Given the description of an element on the screen output the (x, y) to click on. 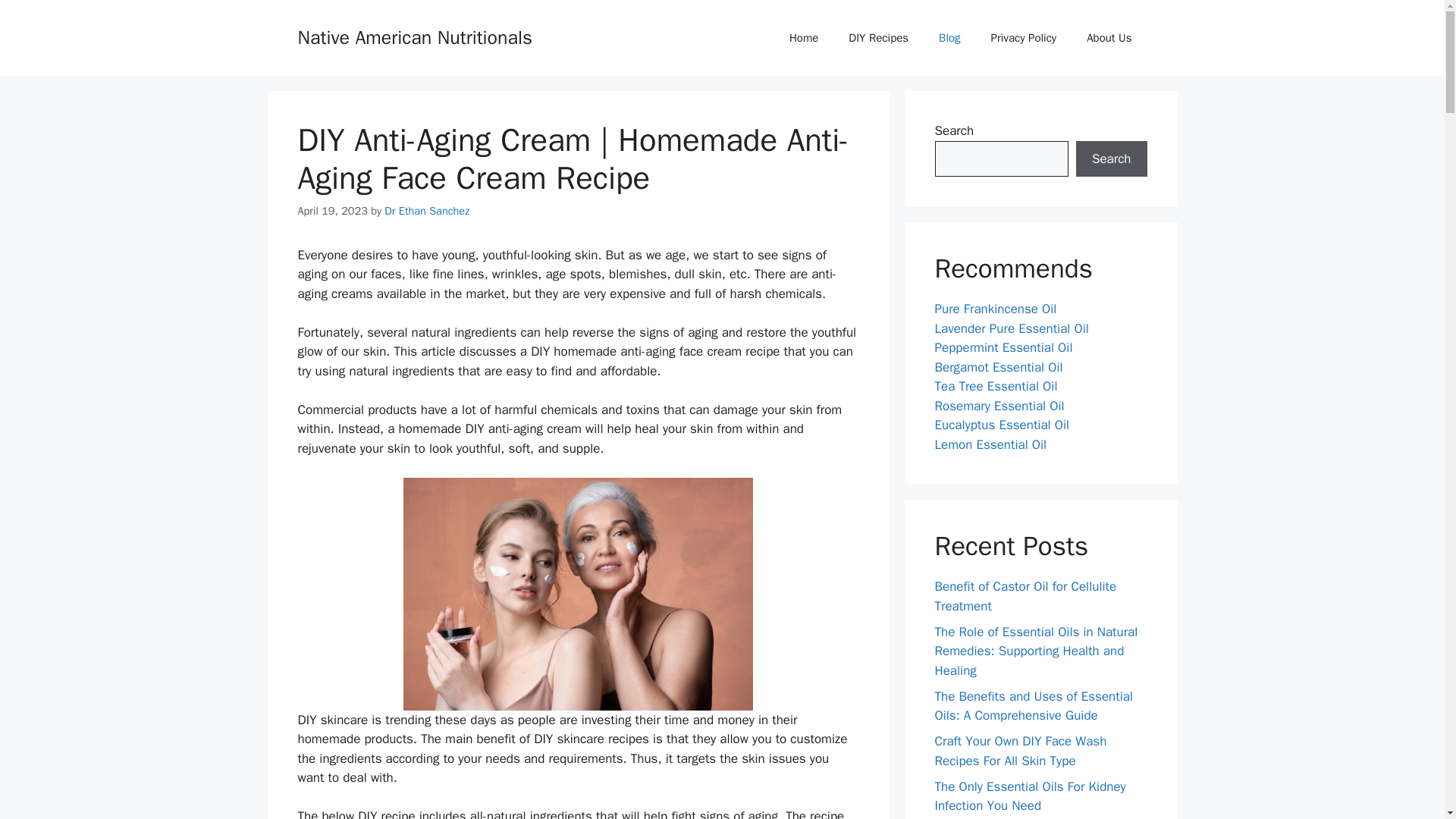
Pure Frankincense Oil (995, 308)
DIY Recipes (877, 37)
Blog (949, 37)
Eucalyptus Essential Oil (1001, 424)
Bergamot Essential Oil (998, 367)
Lemon Essential Oil (990, 444)
Privacy Policy (1023, 37)
Lavender Pure Essential Oil (1010, 327)
Benefit of Castor Oil for Cellulite Treatment (1025, 596)
